Given the description of an element on the screen output the (x, y) to click on. 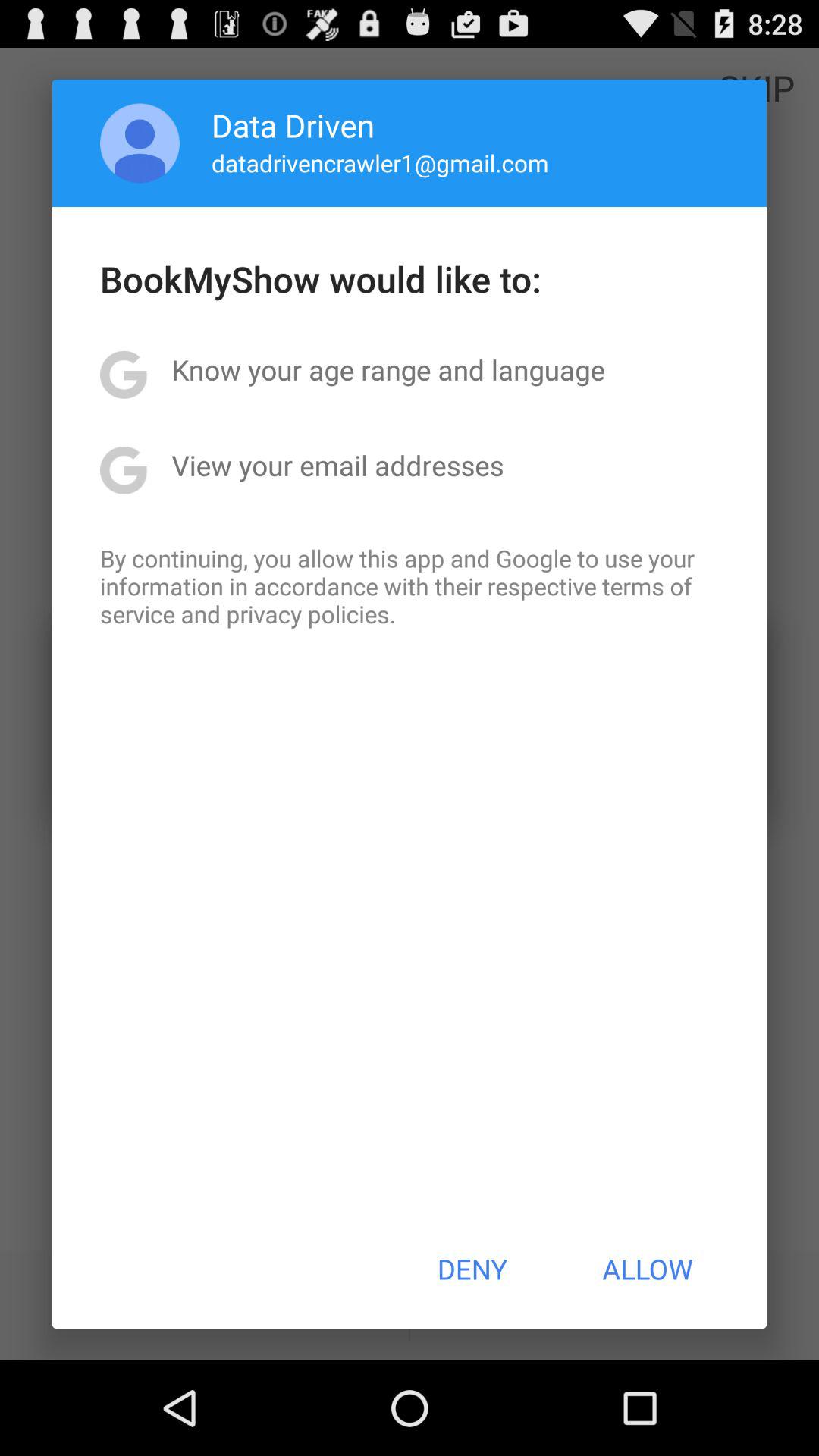
launch icon to the left of the data driven icon (139, 143)
